Given the description of an element on the screen output the (x, y) to click on. 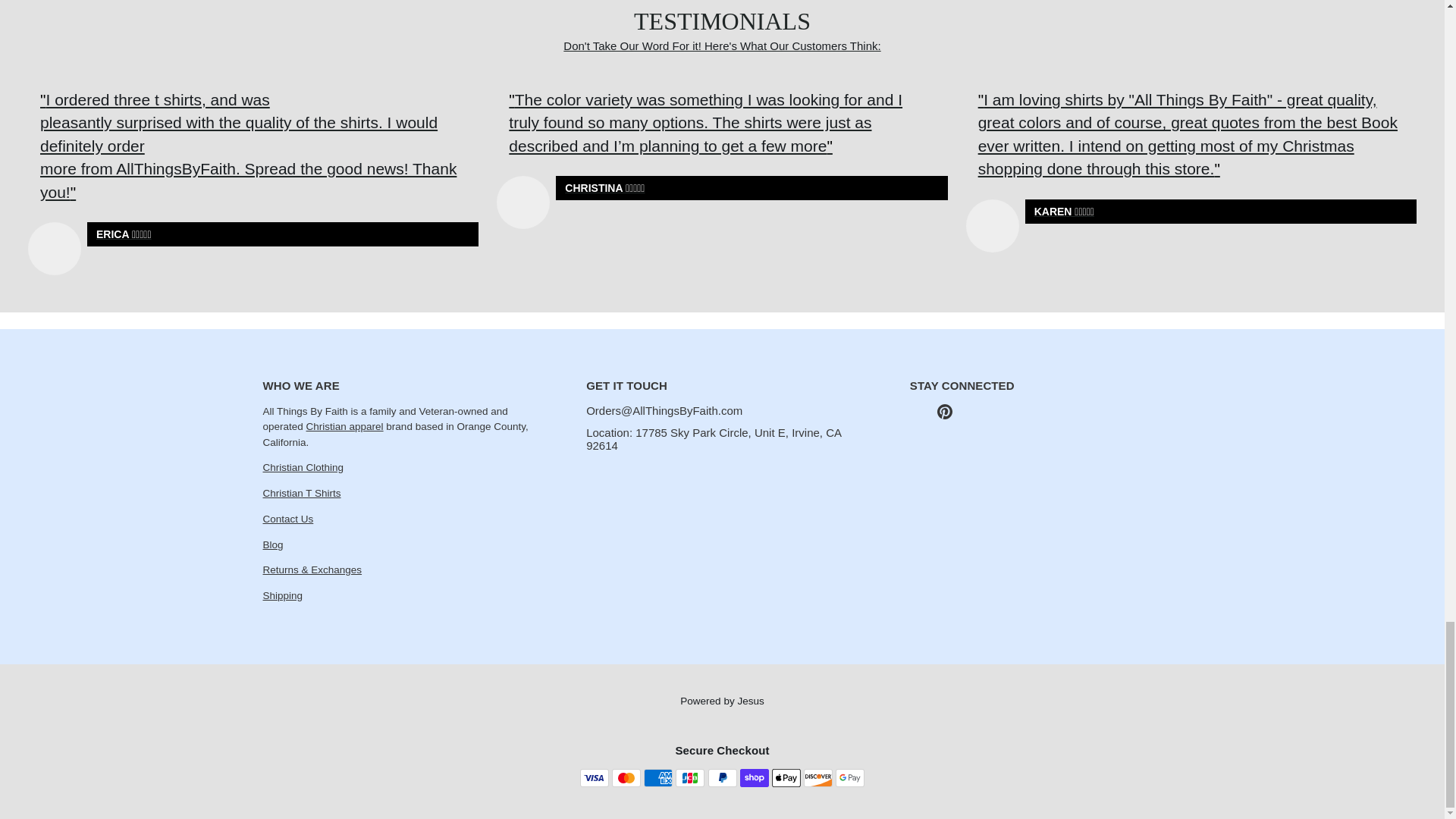
Christian apparel (344, 426)
Discover (817, 778)
Google Pay (849, 778)
Christian T Shirts (301, 492)
Visa (593, 778)
JCB (689, 778)
American Express (657, 778)
Mastercard (625, 778)
Shop Pay (753, 778)
PayPal (721, 778)
Apple Pay (785, 778)
Contact (287, 518)
